Given the description of an element on the screen output the (x, y) to click on. 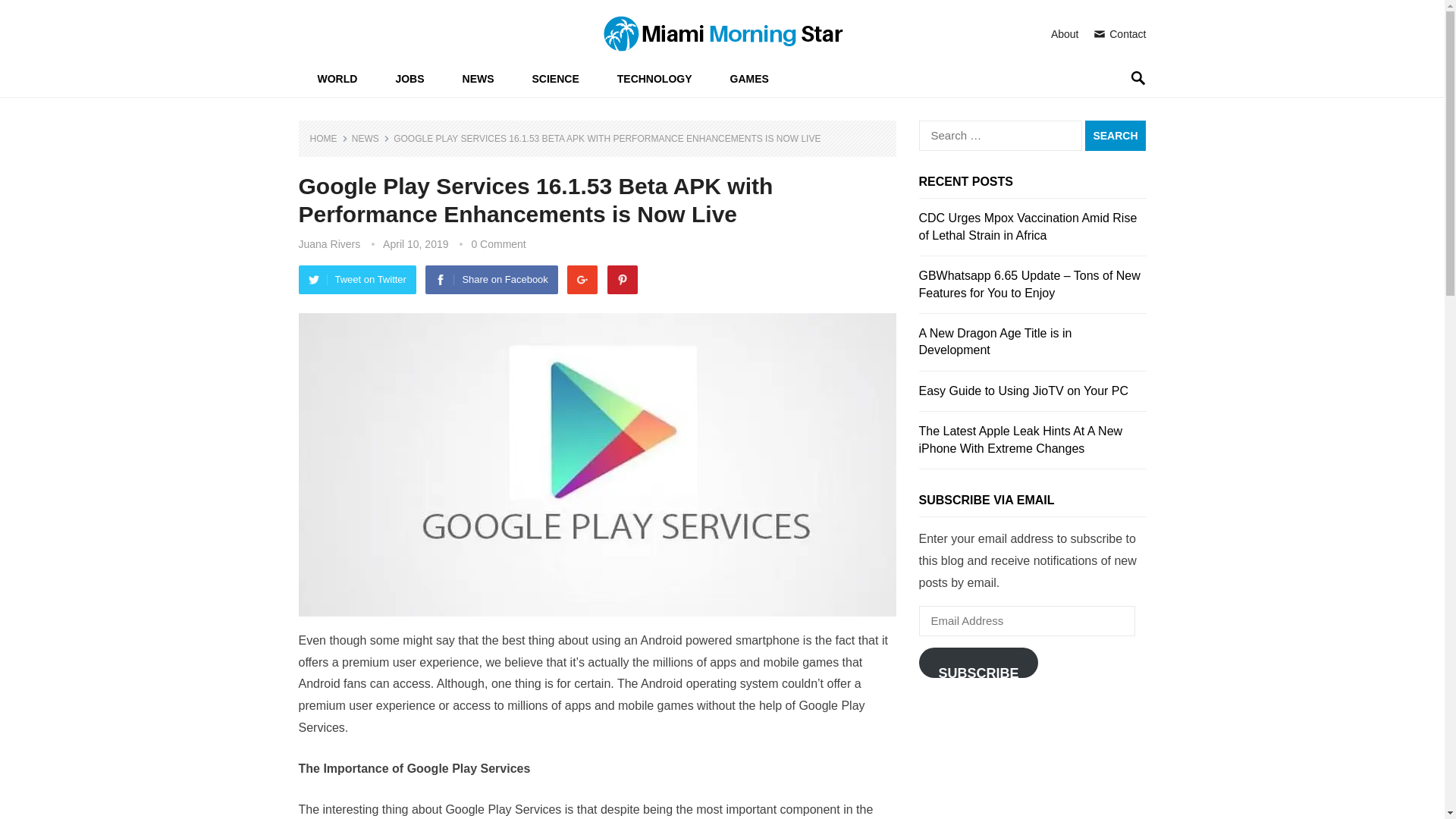
Tweet on Twitter (357, 279)
Contact (1119, 33)
JOBS (408, 78)
Posts by Juana Rivers (329, 244)
NEWS (478, 78)
WORLD (337, 78)
Pinterest (622, 279)
GAMES (749, 78)
TECHNOLOGY (654, 78)
HOME (327, 138)
